Given the description of an element on the screen output the (x, y) to click on. 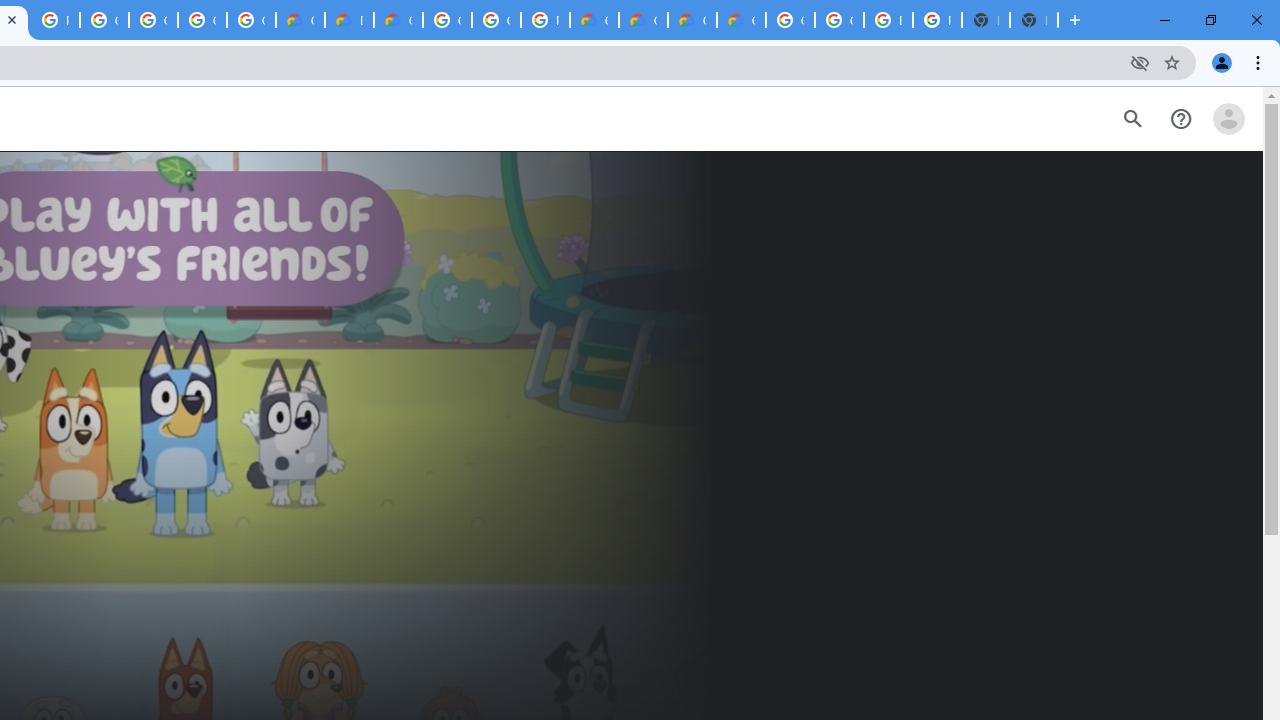
New Tab (1033, 20)
Gemini for Business and Developers | Google Cloud (398, 20)
Customer Care | Google Cloud (300, 20)
Google Cloud Pricing Calculator (643, 20)
Help Center (1180, 119)
Google Cloud Platform (839, 20)
